Given the description of an element on the screen output the (x, y) to click on. 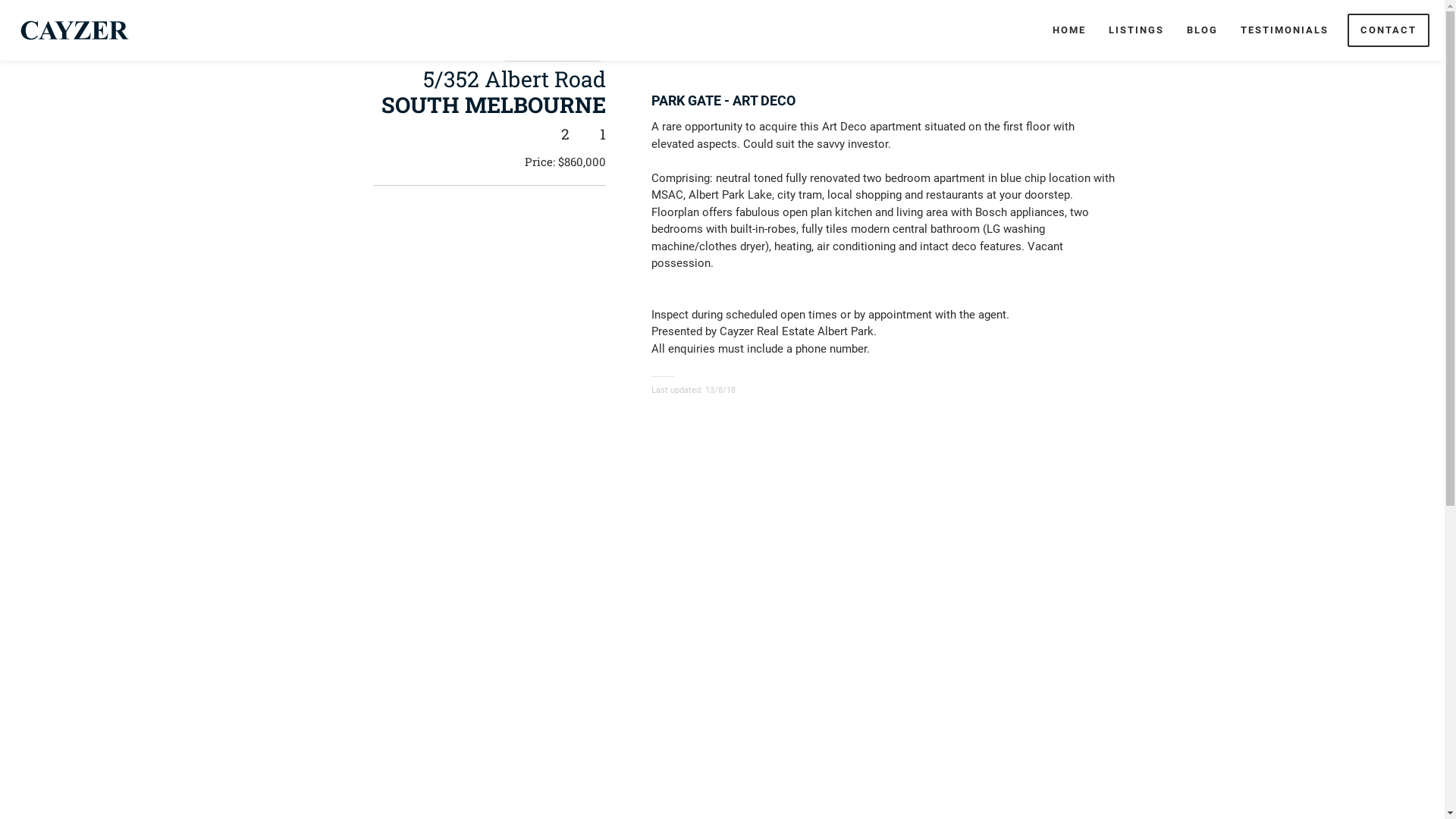
LISTINGS Element type: text (1136, 29)
BLOG Element type: text (1202, 29)
HOME Element type: text (1069, 29)
FLOORPLAN Element type: text (700, 39)
CONTACT Element type: text (1388, 29)
TESTIMONIALS Element type: text (1284, 29)
